Given the description of an element on the screen output the (x, y) to click on. 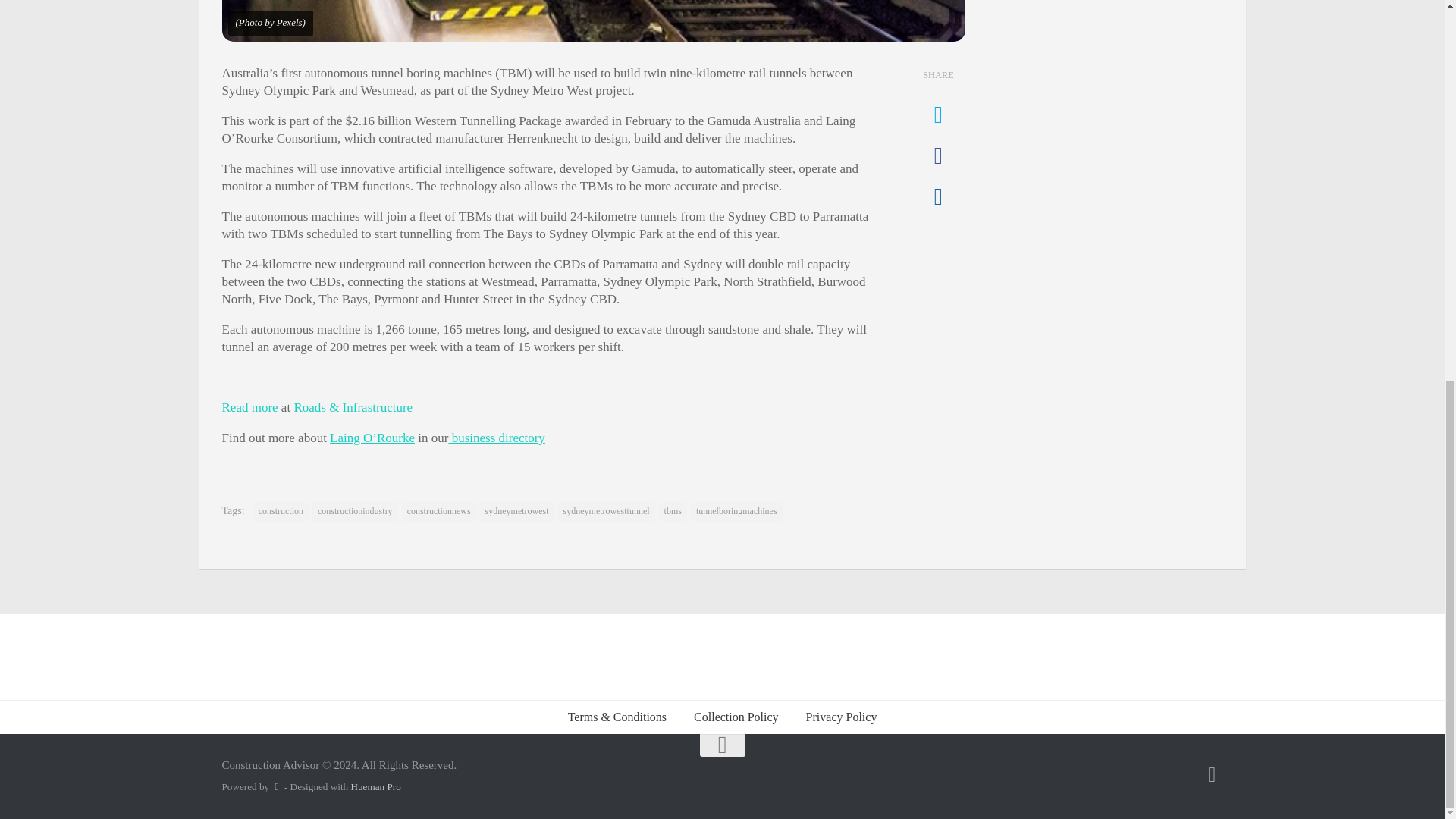
tunnelboringmachines (736, 511)
Privacy Policy (841, 717)
business directory (496, 437)
Hueman Pro (375, 786)
Collection Policy (735, 717)
sydneymetrowesttunnel (606, 511)
constructionnews (438, 511)
sydneymetrowest (517, 511)
Follow us on Linkedin (1212, 774)
Read more (249, 407)
